Given the description of an element on the screen output the (x, y) to click on. 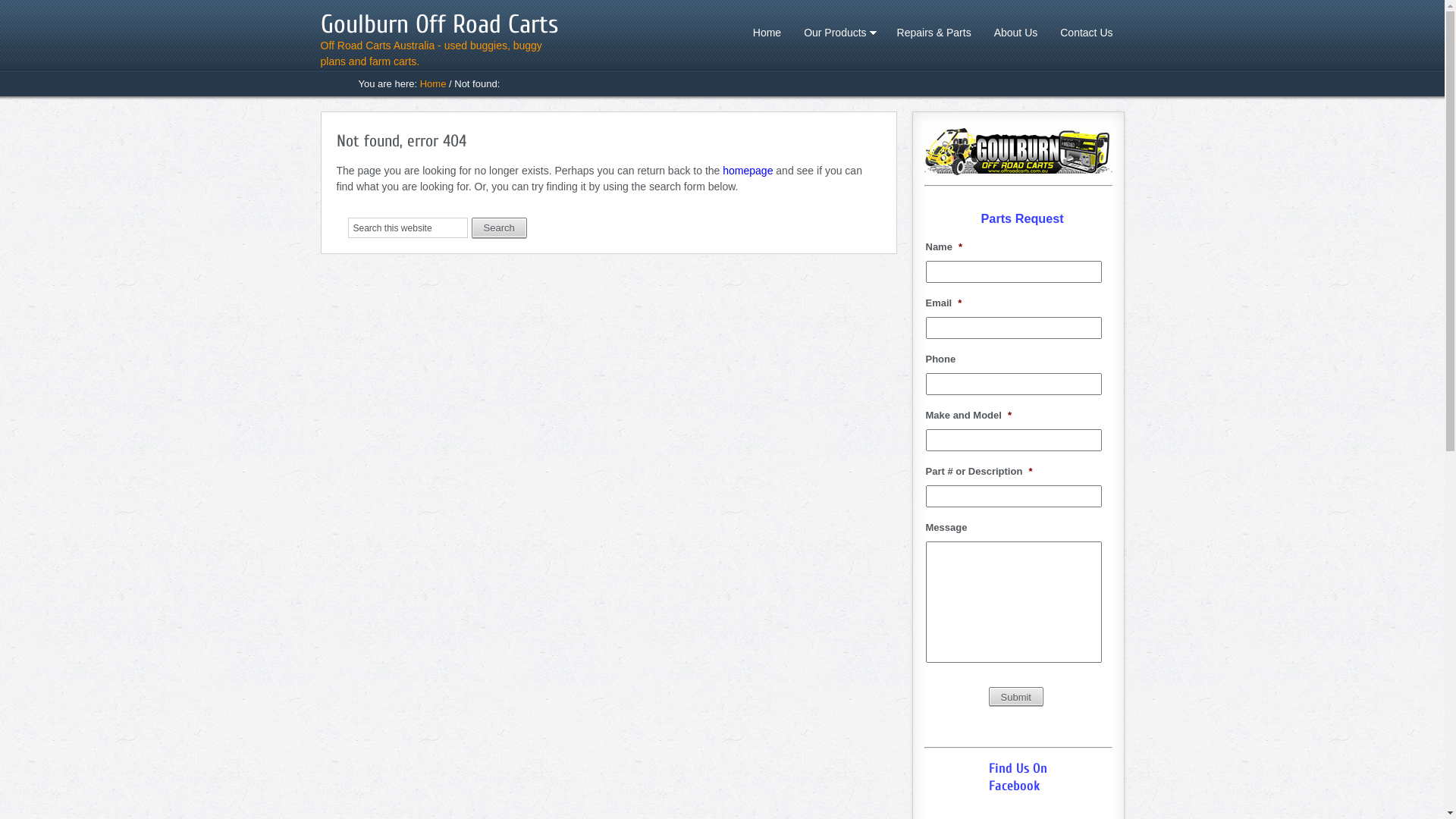
About Us Element type: text (1015, 32)
Our Products Element type: text (838, 32)
Contact Us Element type: text (1085, 32)
Repairs & Parts Element type: text (933, 32)
homepage Element type: text (747, 169)
Search Element type: text (499, 226)
Goulburn Off Road Carts Element type: text (438, 24)
Home Element type: text (433, 83)
Home Element type: text (766, 32)
Submit Element type: text (1015, 696)
